Given the description of an element on the screen output the (x, y) to click on. 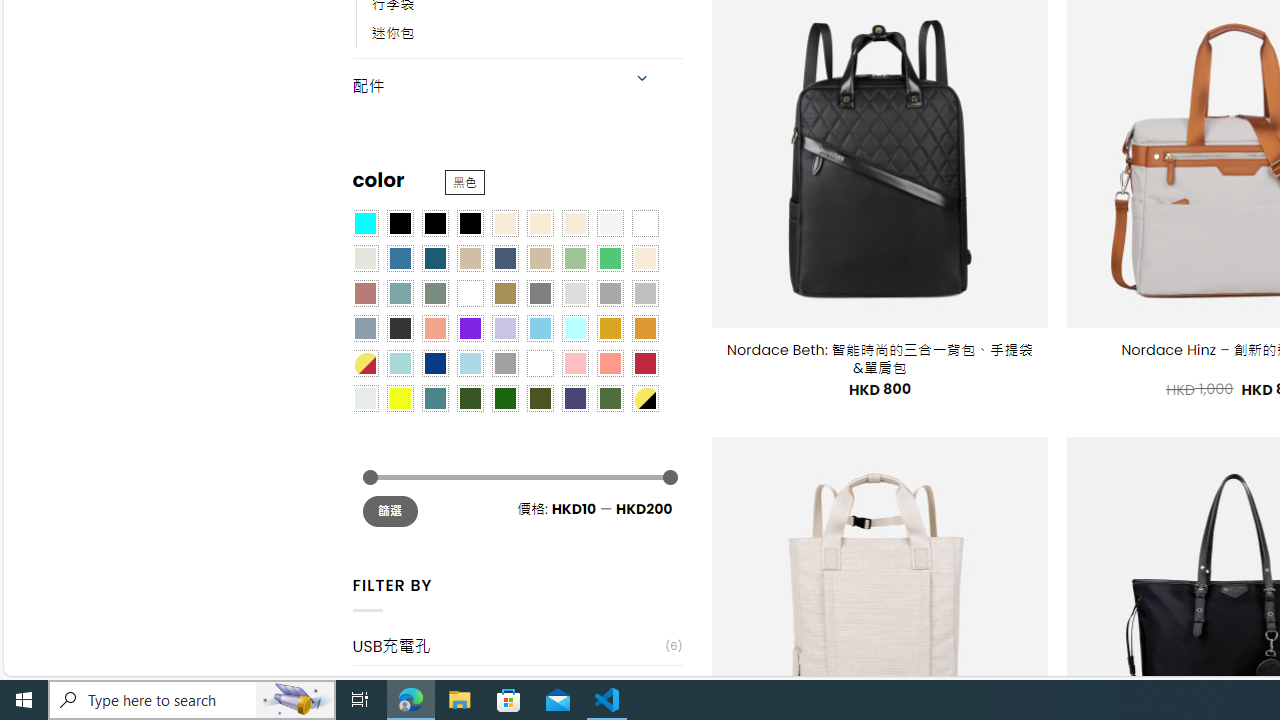
Dull Nickle (364, 398)
